Given the description of an element on the screen output the (x, y) to click on. 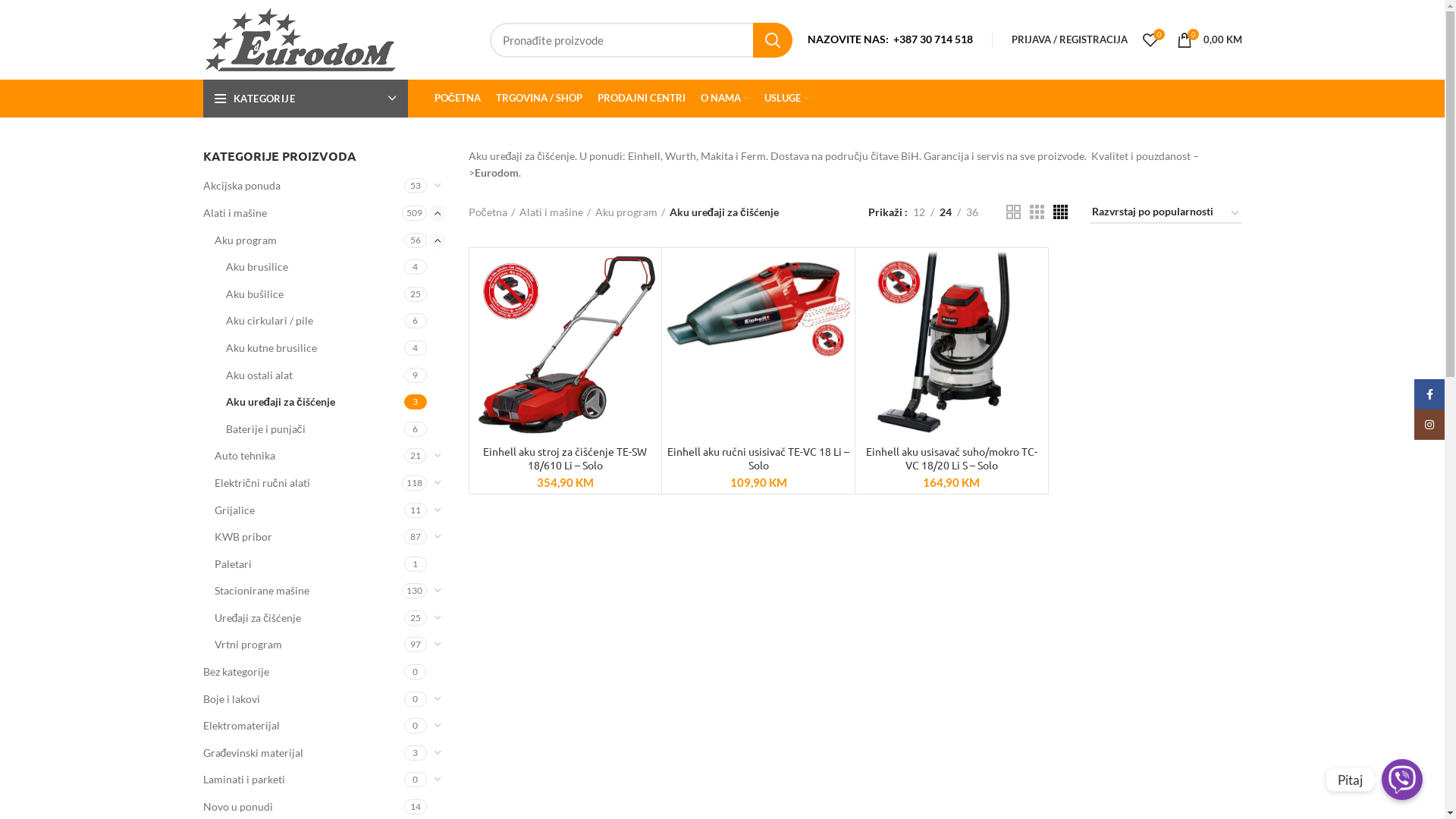
Vrtni program Element type: text (308, 644)
Akcijska ponuda Element type: text (303, 185)
Aku program Element type: text (629, 211)
0
0,00 KM Element type: text (1209, 39)
Aku brusilice Element type: text (314, 266)
O NAMA Element type: text (724, 98)
TRGOVINA / SHOP Element type: text (538, 98)
Elektromaterijal Element type: text (303, 725)
Laminati i parketi Element type: text (303, 779)
Boje i lakovi Element type: text (303, 698)
Auto tehnika Element type: text (308, 455)
Aku ostali alat Element type: text (314, 375)
Grijalice Element type: text (308, 510)
36 Element type: text (971, 211)
Bez kategorije Element type: text (303, 671)
Aku cirkulari / pile Element type: text (314, 320)
KWB pribor Element type: text (308, 536)
24 Element type: text (945, 211)
Aku kutne brusilice Element type: text (314, 347)
USLUGE Element type: text (786, 98)
12 Element type: text (917, 211)
Aku program Element type: text (308, 240)
Paletari Element type: text (308, 563)
0 Element type: text (1149, 39)
PRIJAVA / REGISTRACIJA Element type: text (1069, 39)
SEARCH Element type: text (771, 39)
PRODAJNI CENTRI Element type: text (641, 98)
